Given the description of an element on the screen output the (x, y) to click on. 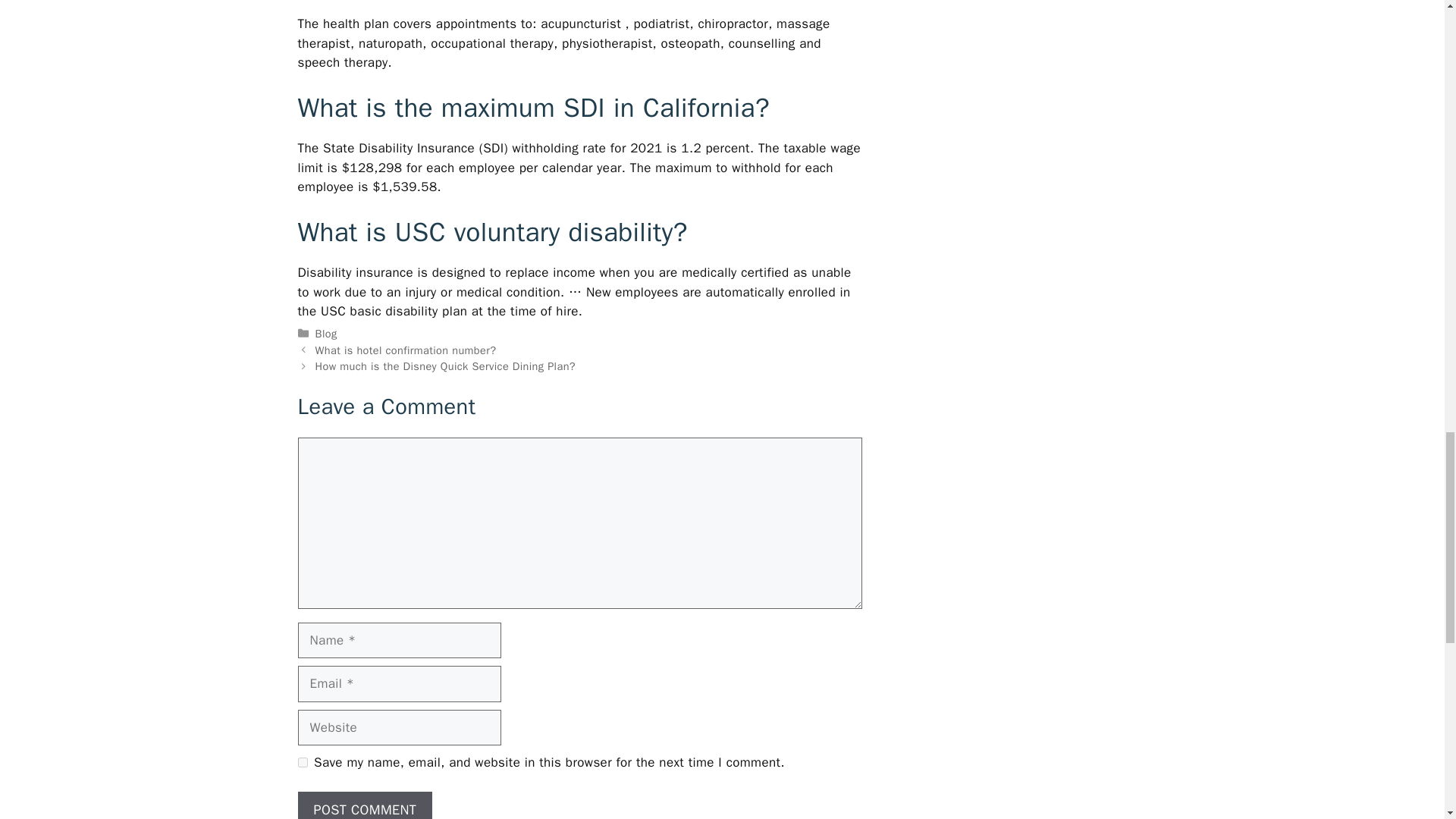
Post Comment (364, 805)
yes (302, 762)
What is hotel confirmation number? (405, 350)
How much is the Disney Quick Service Dining Plan? (445, 366)
Post Comment (364, 805)
Blog (326, 333)
